Given the description of an element on the screen output the (x, y) to click on. 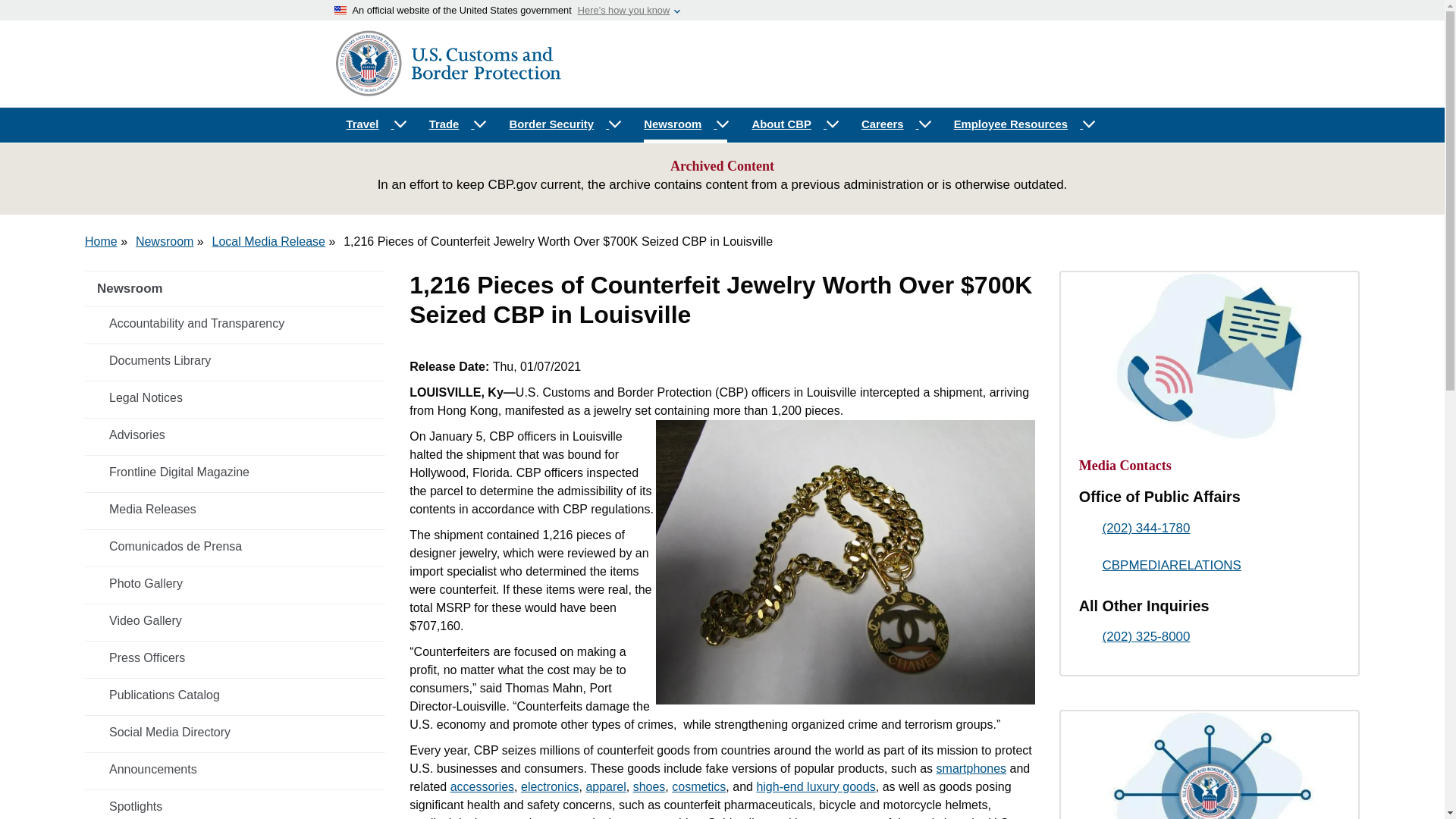
Press Officers (234, 657)
Home (100, 241)
Local Media Release (268, 241)
Accountability and Transparency (234, 323)
Trade (456, 124)
Documents Library (234, 360)
cosmetics (698, 786)
Employee Resources (1024, 124)
Media Releases (234, 509)
Careers (895, 124)
Newsroom (234, 288)
shoes (649, 786)
Announcements (234, 769)
high-end luxury goods (815, 786)
About CBP (793, 124)
